Given the description of an element on the screen output the (x, y) to click on. 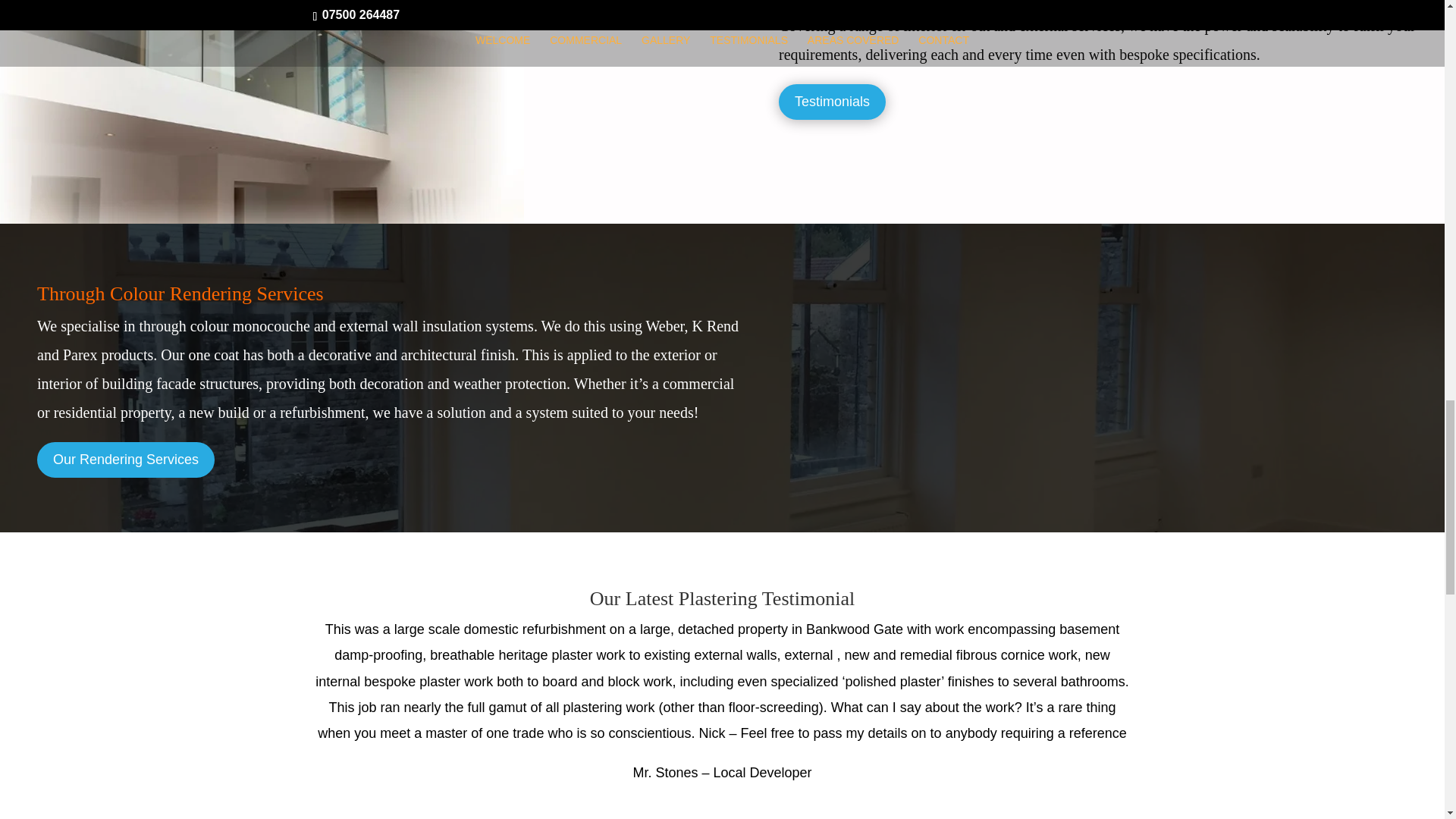
Testimonials (831, 101)
Our Rendering Services (125, 459)
